Given the description of an element on the screen output the (x, y) to click on. 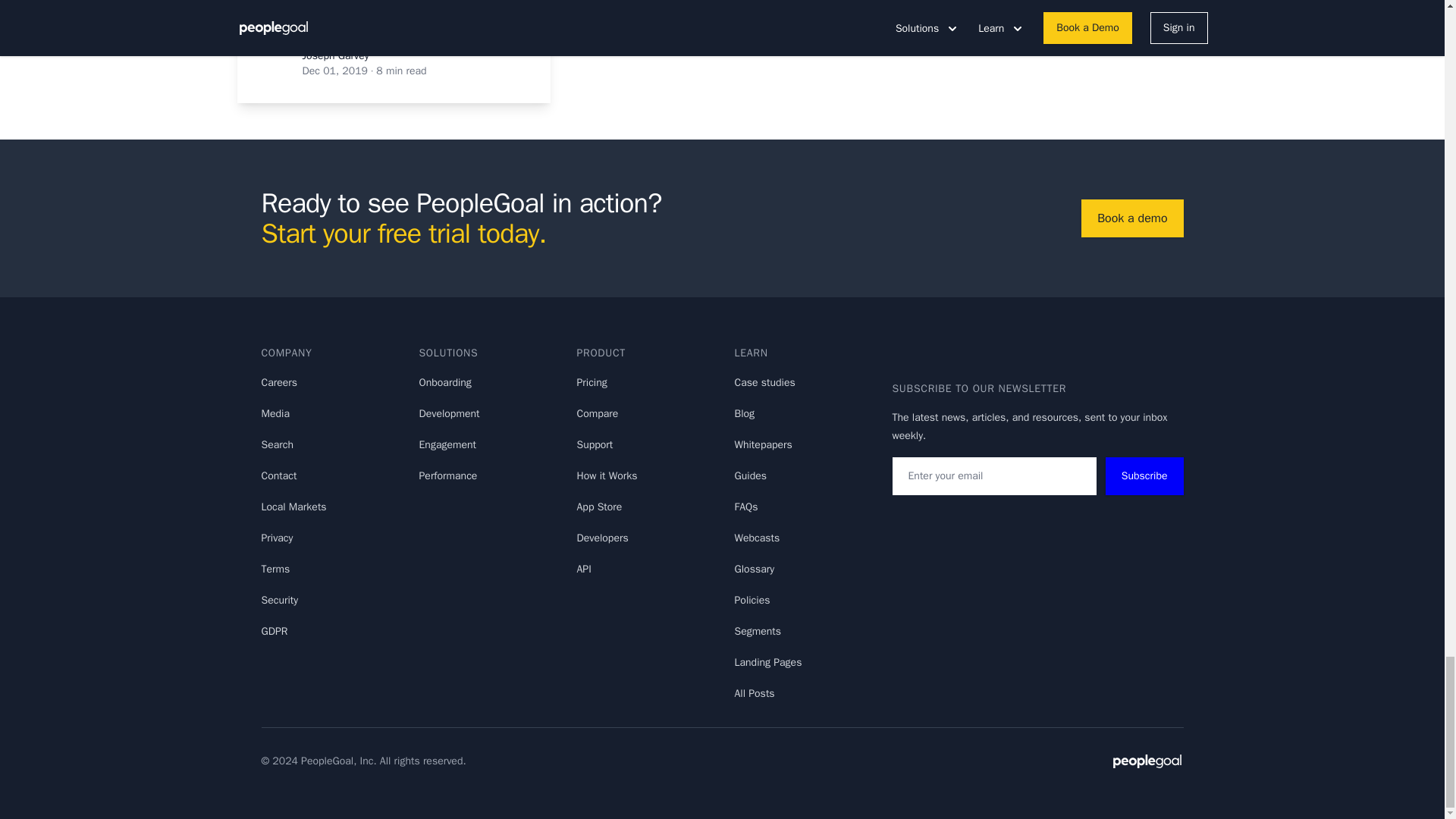
Privacy (276, 537)
Performance (448, 475)
How it Works (606, 475)
Engagement (447, 444)
Media (274, 413)
Whitepapers (762, 444)
Onboarding (444, 382)
Contact (278, 475)
Developers (601, 537)
GDPR (273, 631)
Security (279, 599)
Compare (596, 413)
Case studies (763, 382)
Terms (274, 568)
